Given the description of an element on the screen output the (x, y) to click on. 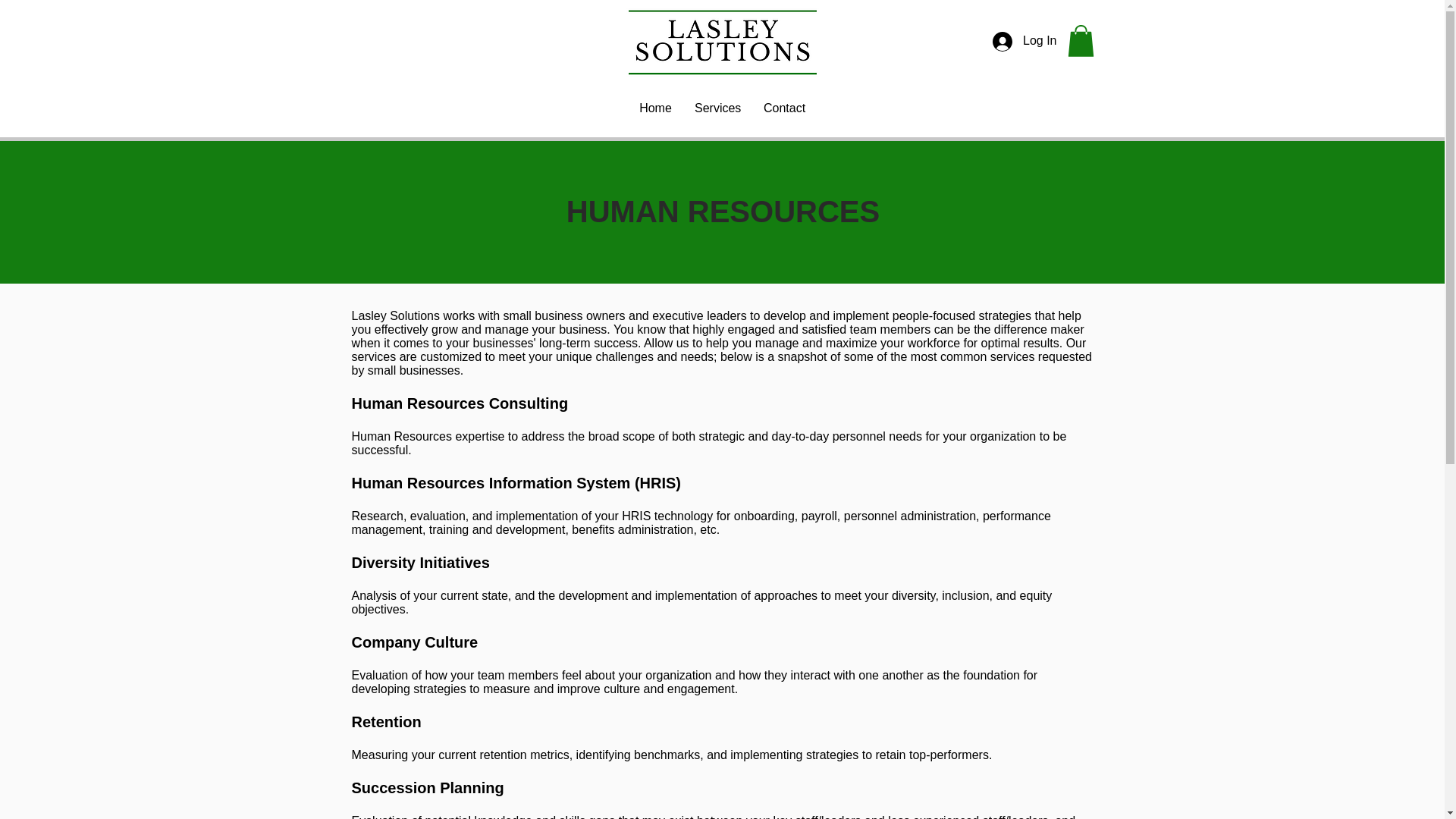
Services (717, 108)
Home (654, 108)
Contact (784, 108)
Log In (1024, 41)
